Given the description of an element on the screen output the (x, y) to click on. 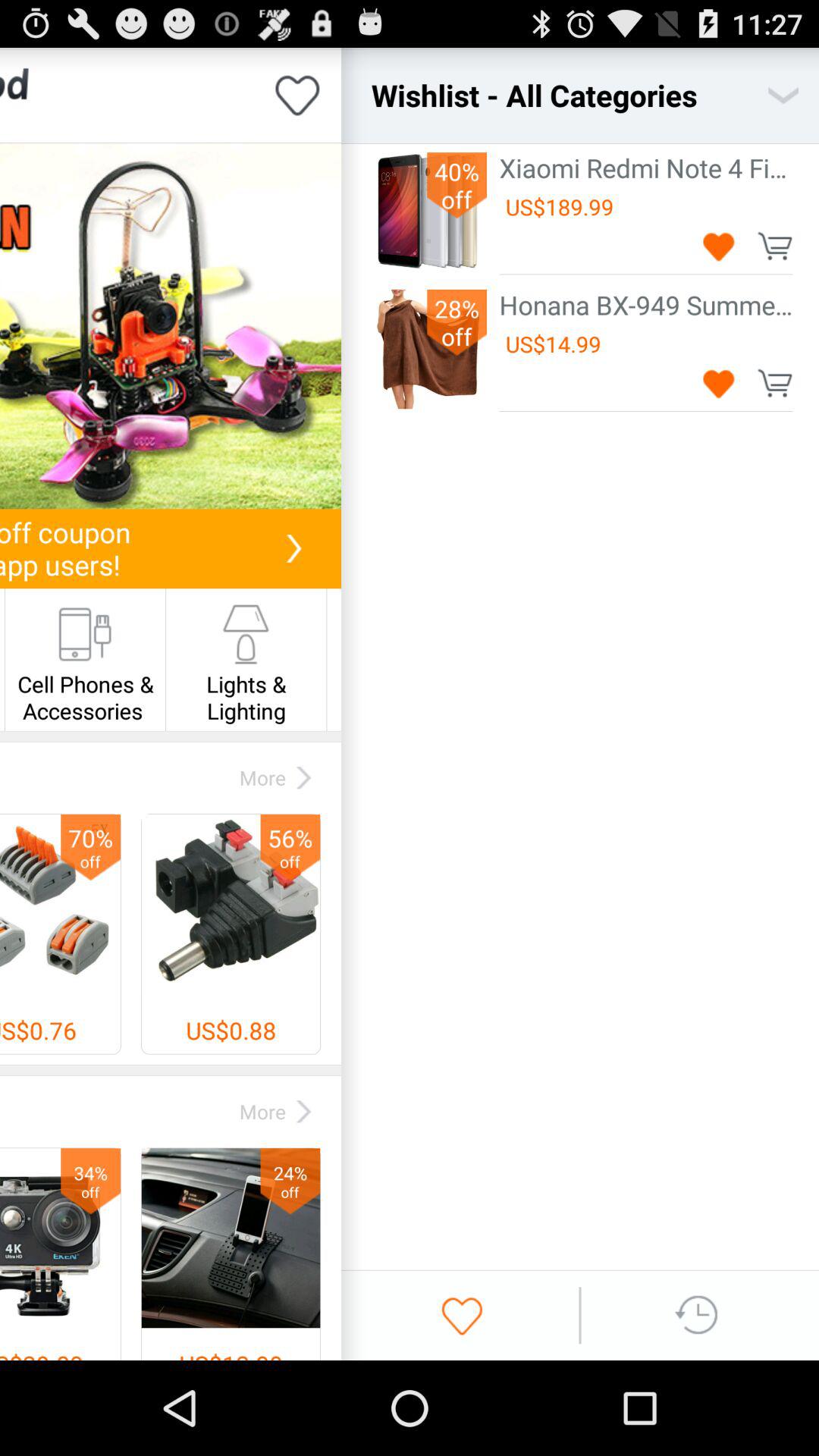
add to wishlist (719, 382)
